Given the description of an element on the screen output the (x, y) to click on. 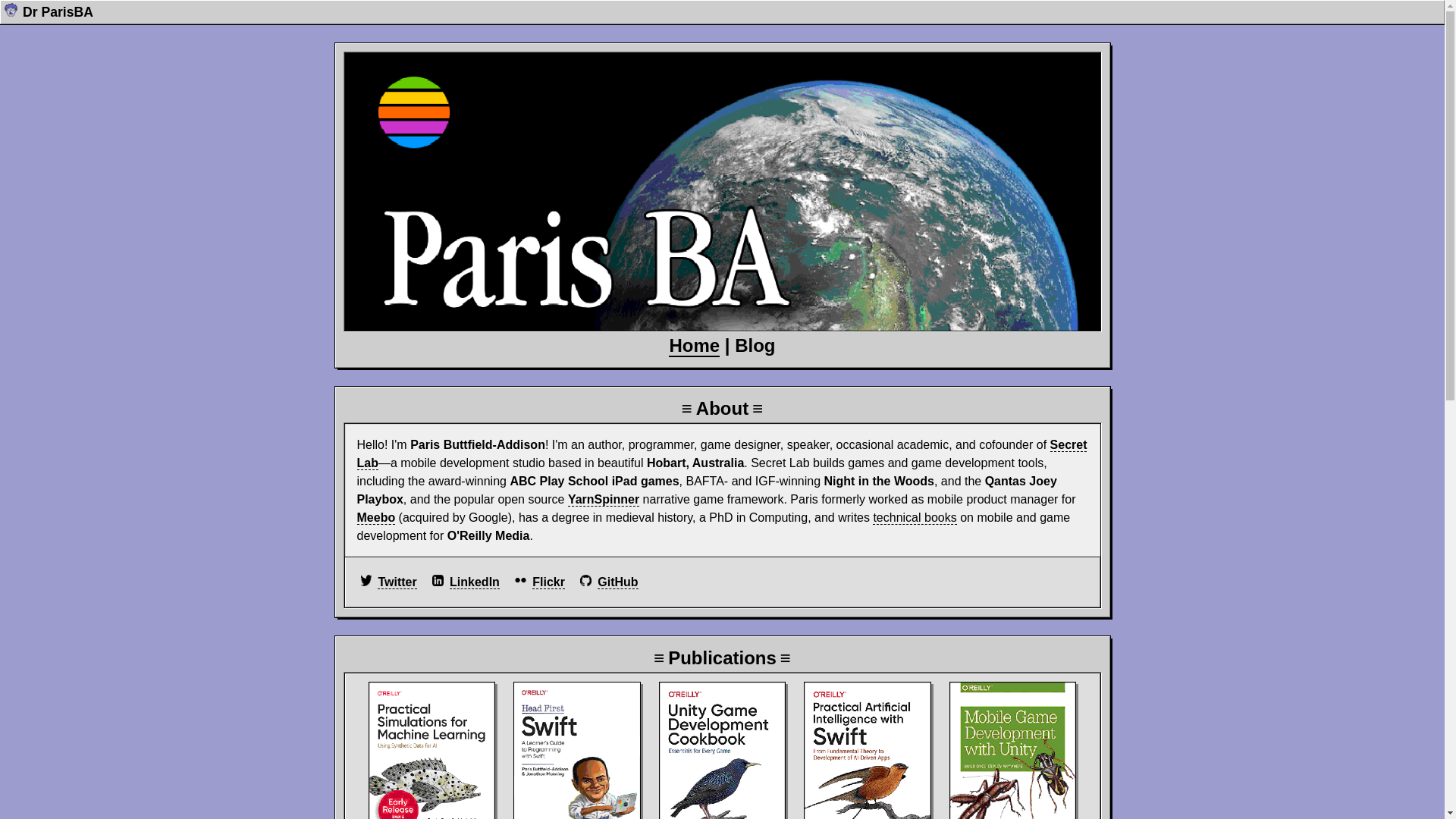
Flickr Element type: text (548, 582)
Blog Element type: text (754, 345)
LinkedIn Element type: text (474, 582)
Twitter Element type: text (396, 582)
YarnSpinner Element type: text (603, 499)
technical books Element type: text (914, 517)
Home Element type: text (693, 346)
Secret Lab Element type: text (721, 454)
GitHub Element type: text (617, 582)
Meebo Element type: text (375, 517)
